Given the description of an element on the screen output the (x, y) to click on. 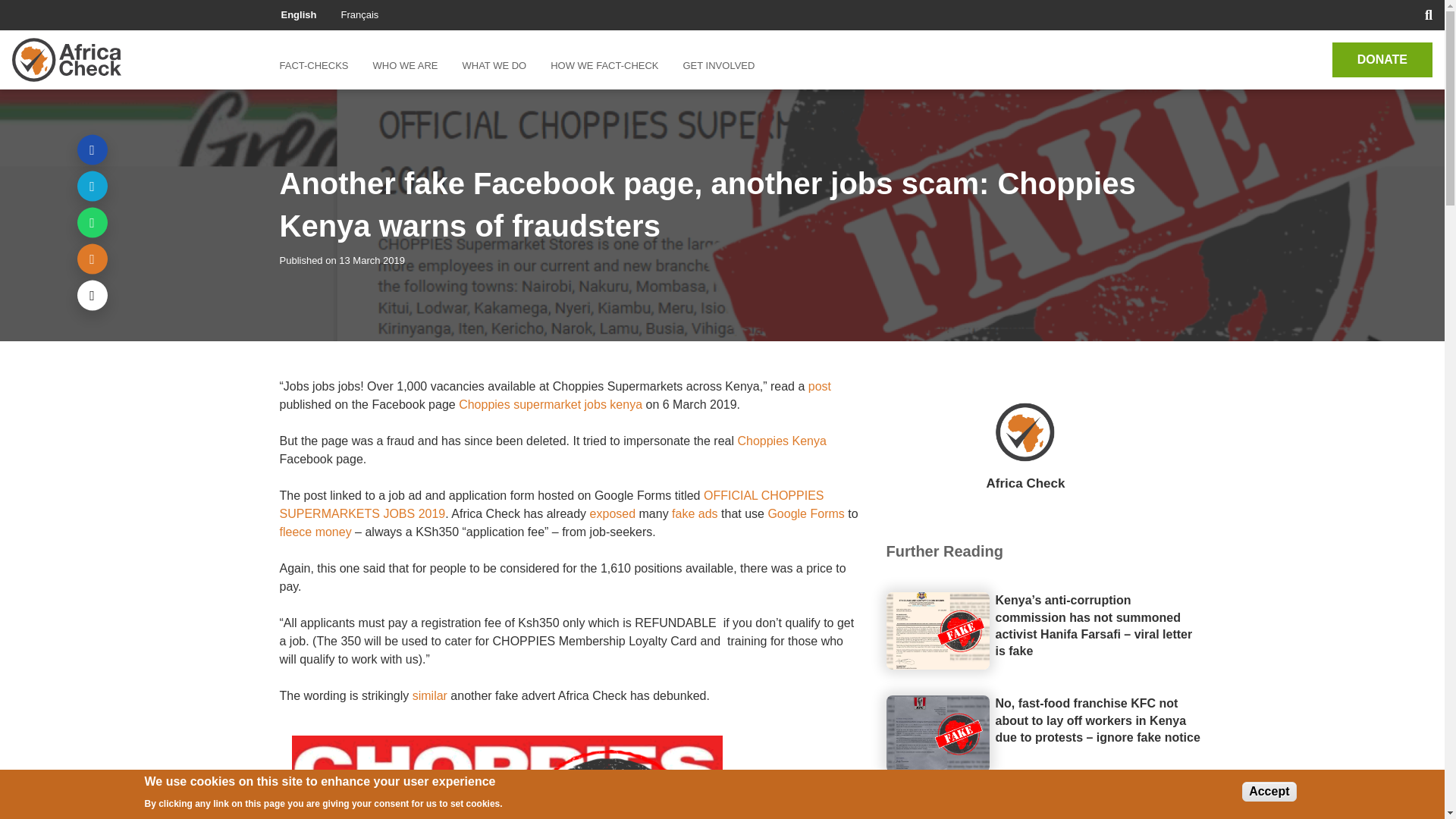
English (298, 14)
WHAT WE DO (493, 65)
HOW WE FACT-CHECK (603, 65)
DONATE (1382, 59)
FACT-CHECKS (319, 65)
GET INVOLVED (718, 65)
WHO WE ARE (405, 65)
